Given the description of an element on the screen output the (x, y) to click on. 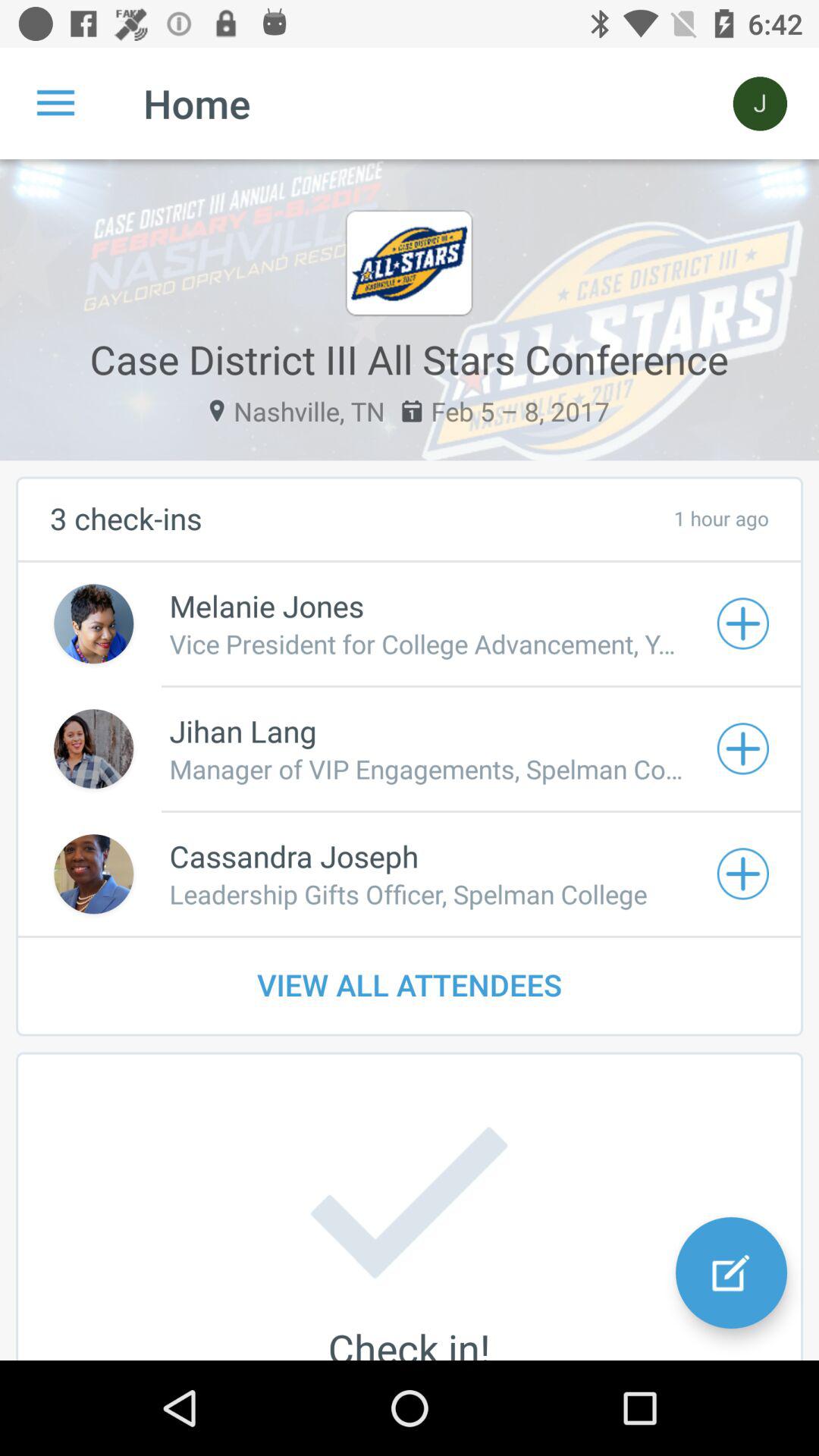
choose view all attendees item (409, 984)
